Given the description of an element on the screen output the (x, y) to click on. 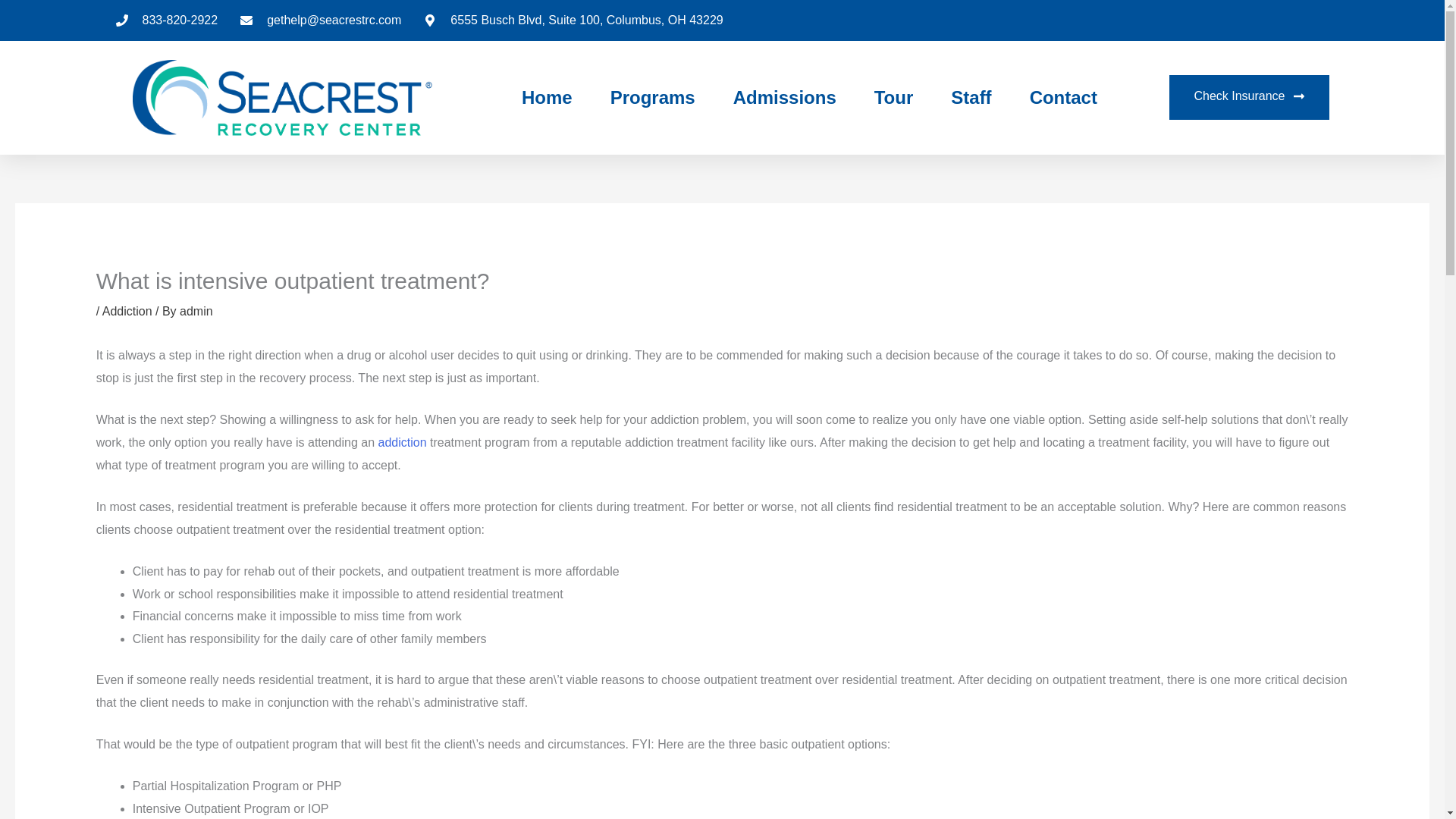
Home (546, 97)
admin (195, 310)
Addiction (126, 310)
addiction (401, 441)
Programs (652, 97)
Admissions (784, 97)
View all posts by admin (195, 310)
833-820-2922 (165, 20)
Check Insurance (1248, 97)
Contact (1063, 97)
Tour (894, 97)
Staff (970, 97)
